Given the description of an element on the screen output the (x, y) to click on. 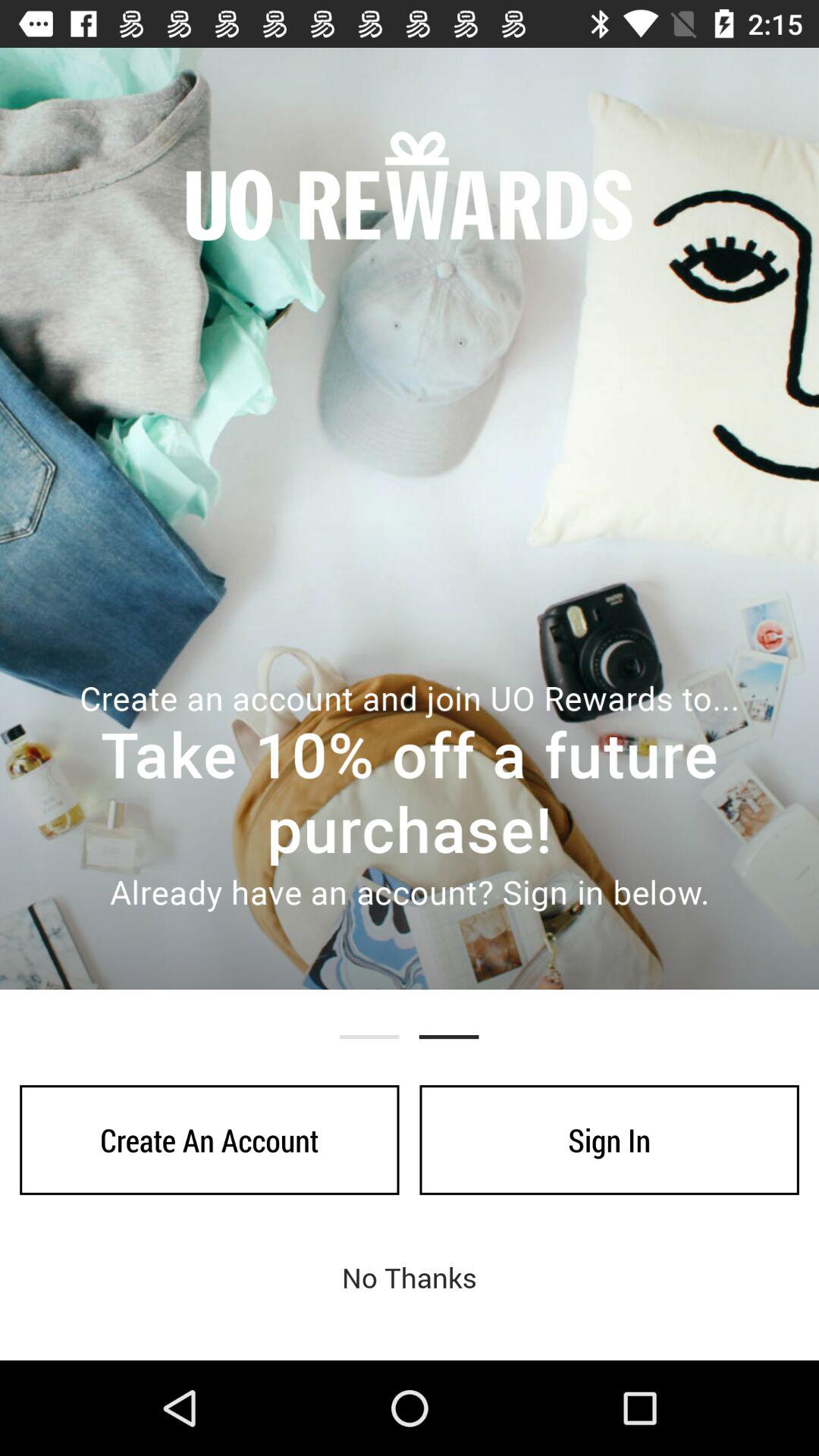
press icon next to sign in item (209, 1139)
